Given the description of an element on the screen output the (x, y) to click on. 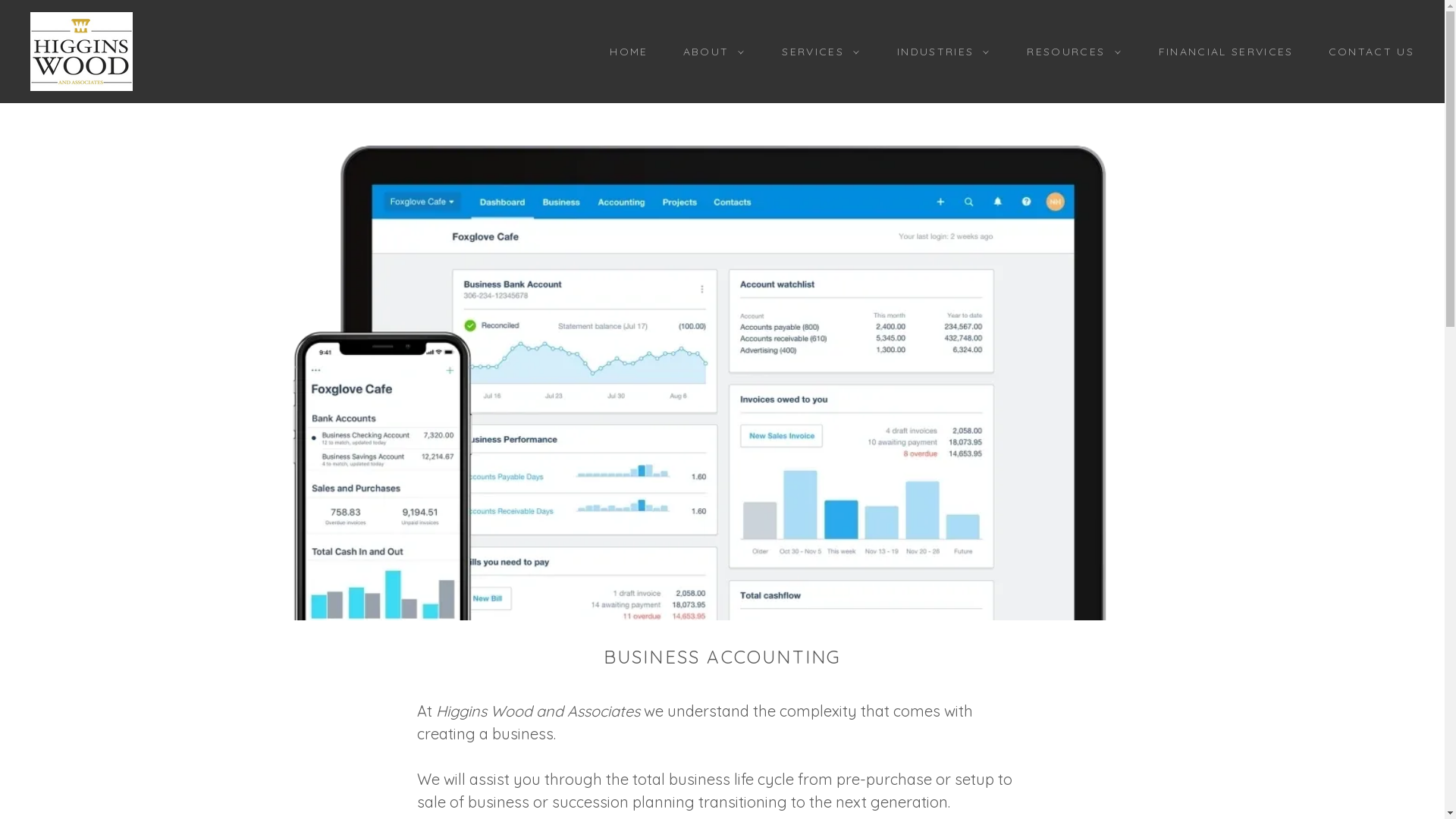
INDUSTRIES Element type: text (938, 51)
SERVICES Element type: text (816, 51)
HOME Element type: text (623, 51)
ABOUT Element type: text (709, 51)
RESOURCES Element type: text (1069, 51)
FINANCIAL SERVICES Element type: text (1220, 51)
CONTACT US Element type: text (1365, 51)
Higgins Wood & Associates Element type: hover (81, 50)
